Given the description of an element on the screen output the (x, y) to click on. 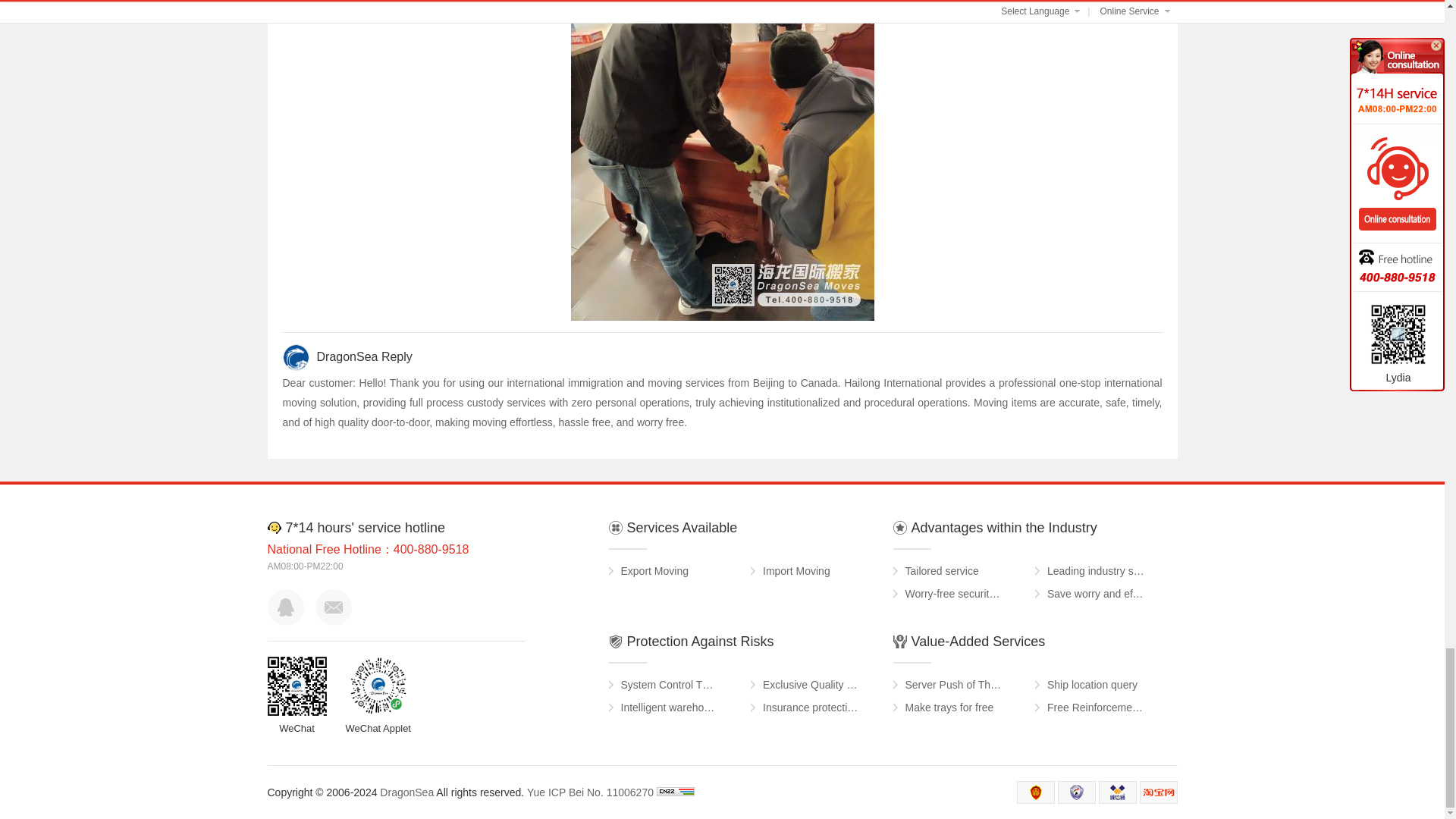
Server Push of The Real-Time Updates (953, 684)
Intelligent warehouse management (668, 707)
Ship location query (1091, 684)
Save worry and effort service (1095, 593)
DragonSea (406, 792)
Make trays for free (949, 707)
CNZZ (675, 792)
110 Internet police-reporting service (1077, 792)
Insurance protection system (811, 707)
Leading industry standards (1095, 570)
